Given the description of an element on the screen output the (x, y) to click on. 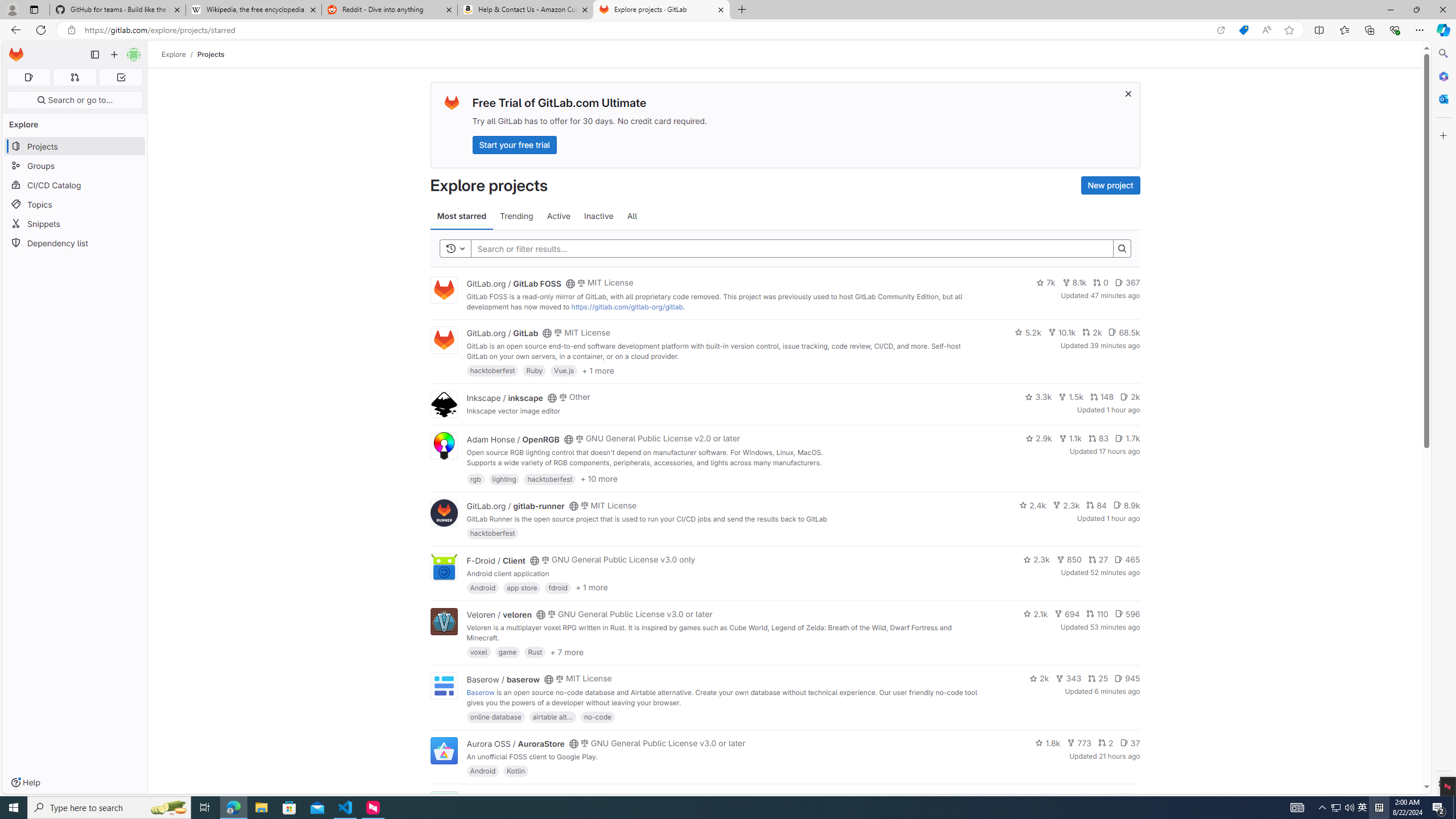
online database (495, 715)
Primary navigation sidebar (94, 54)
1 (1111, 797)
343 (1068, 678)
1.4k (1054, 797)
Edouard Klein / falsisign (512, 797)
694 (1067, 613)
Kotlin (515, 770)
+ 7 more (566, 651)
Topics (74, 203)
148 (1101, 396)
Most starred (461, 216)
